Given the description of an element on the screen output the (x, y) to click on. 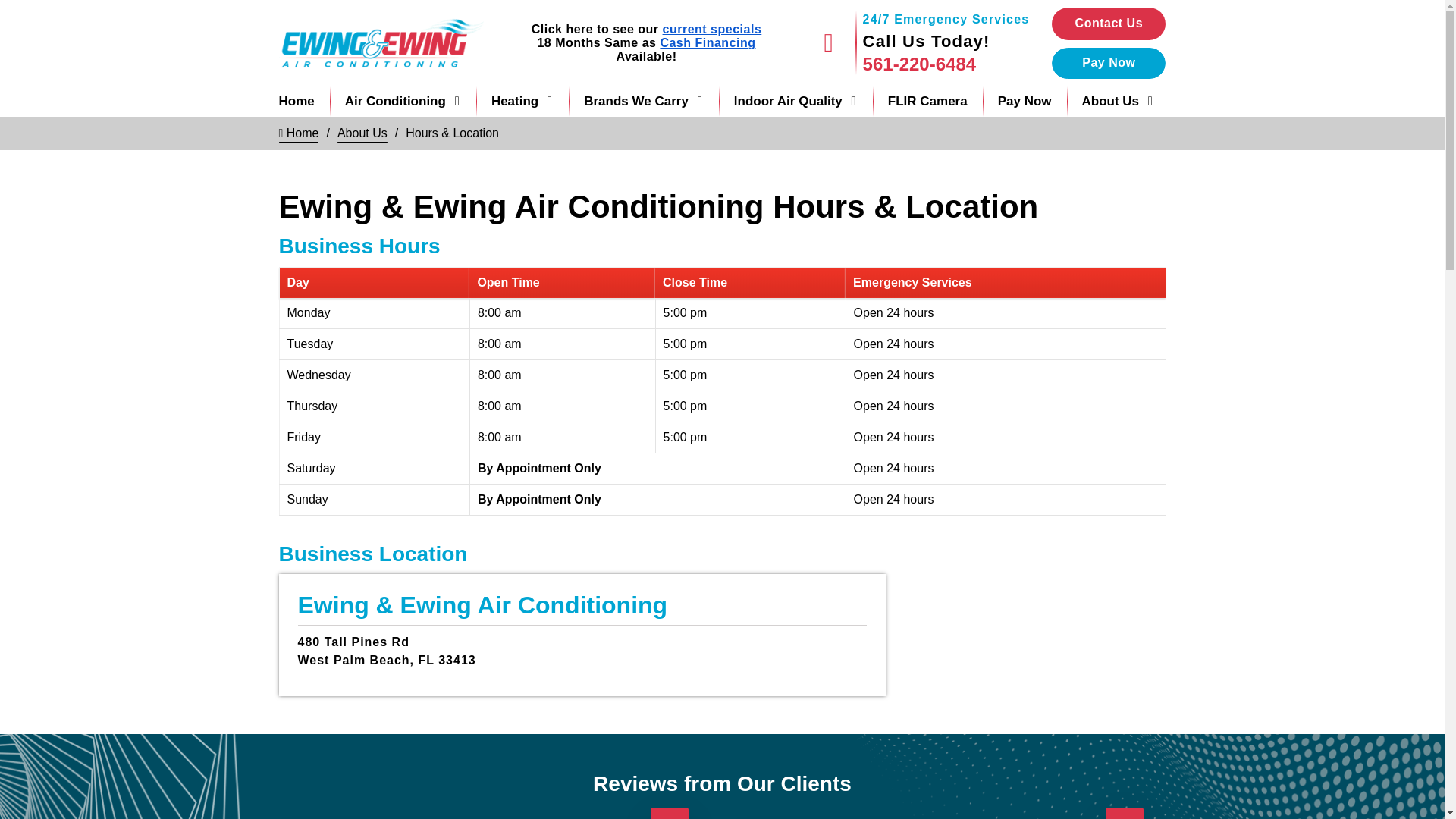
Heating (522, 101)
Home (296, 101)
Pay Now (1108, 62)
Pay Now (1108, 62)
Air Conditioning (403, 101)
561-220-6484 (946, 64)
Cash Financing (707, 42)
Contact Us (1108, 23)
current specials (711, 29)
